Given the description of an element on the screen output the (x, y) to click on. 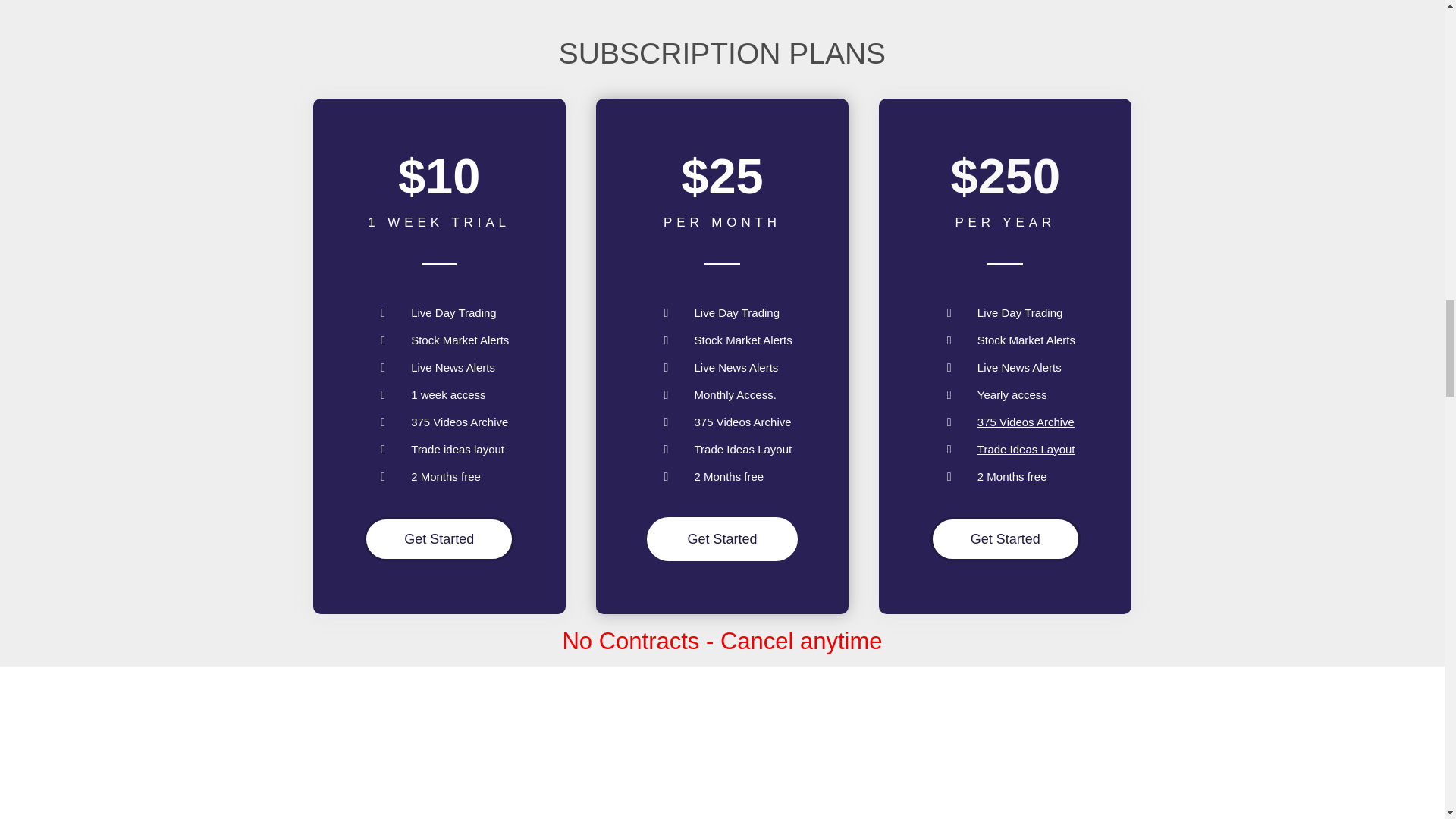
Get Started (438, 538)
Get Started (1005, 538)
Get Started (721, 538)
